Given the description of an element on the screen output the (x, y) to click on. 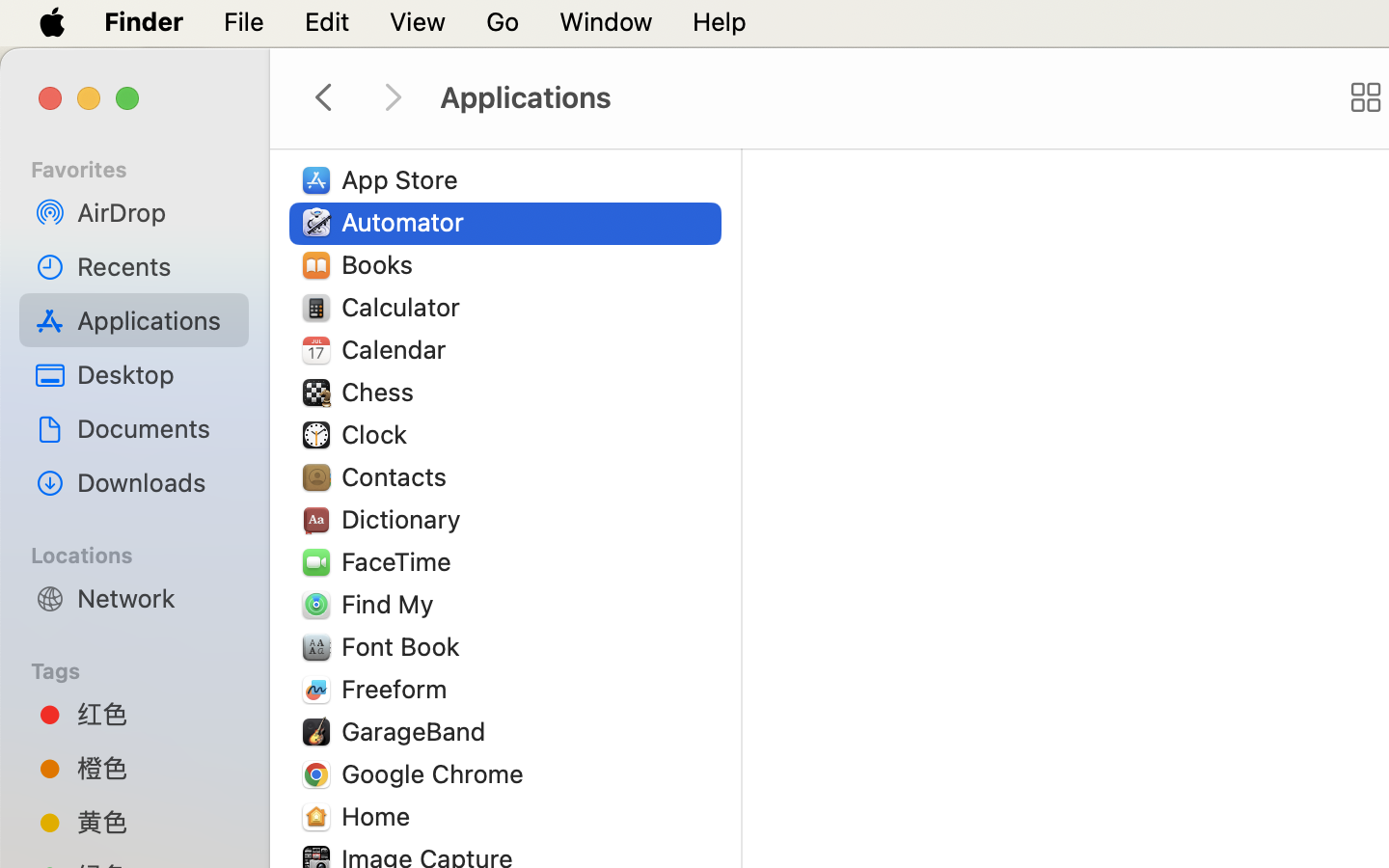
App Store Element type: AXTextField (403, 178)
Tags Element type: AXStaticText (145, 668)
FaceTime Element type: AXTextField (400, 560)
Books Element type: AXTextField (381, 263)
